Given the description of an element on the screen output the (x, y) to click on. 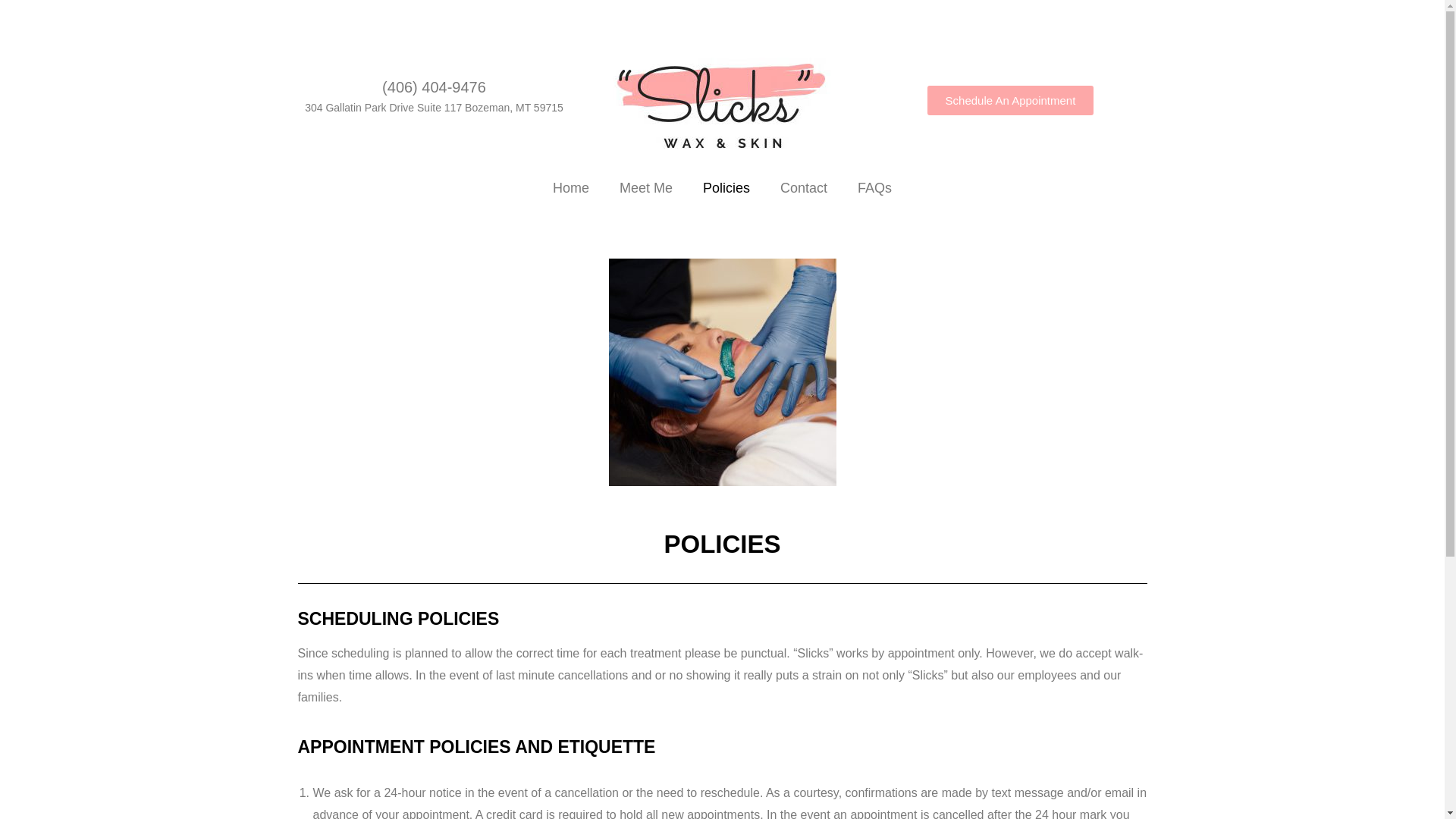
Contact (804, 187)
Schedule An Appointment (1010, 100)
Home (570, 187)
FAQs (875, 187)
Meet Me (645, 187)
Policies (726, 187)
